Given the description of an element on the screen output the (x, y) to click on. 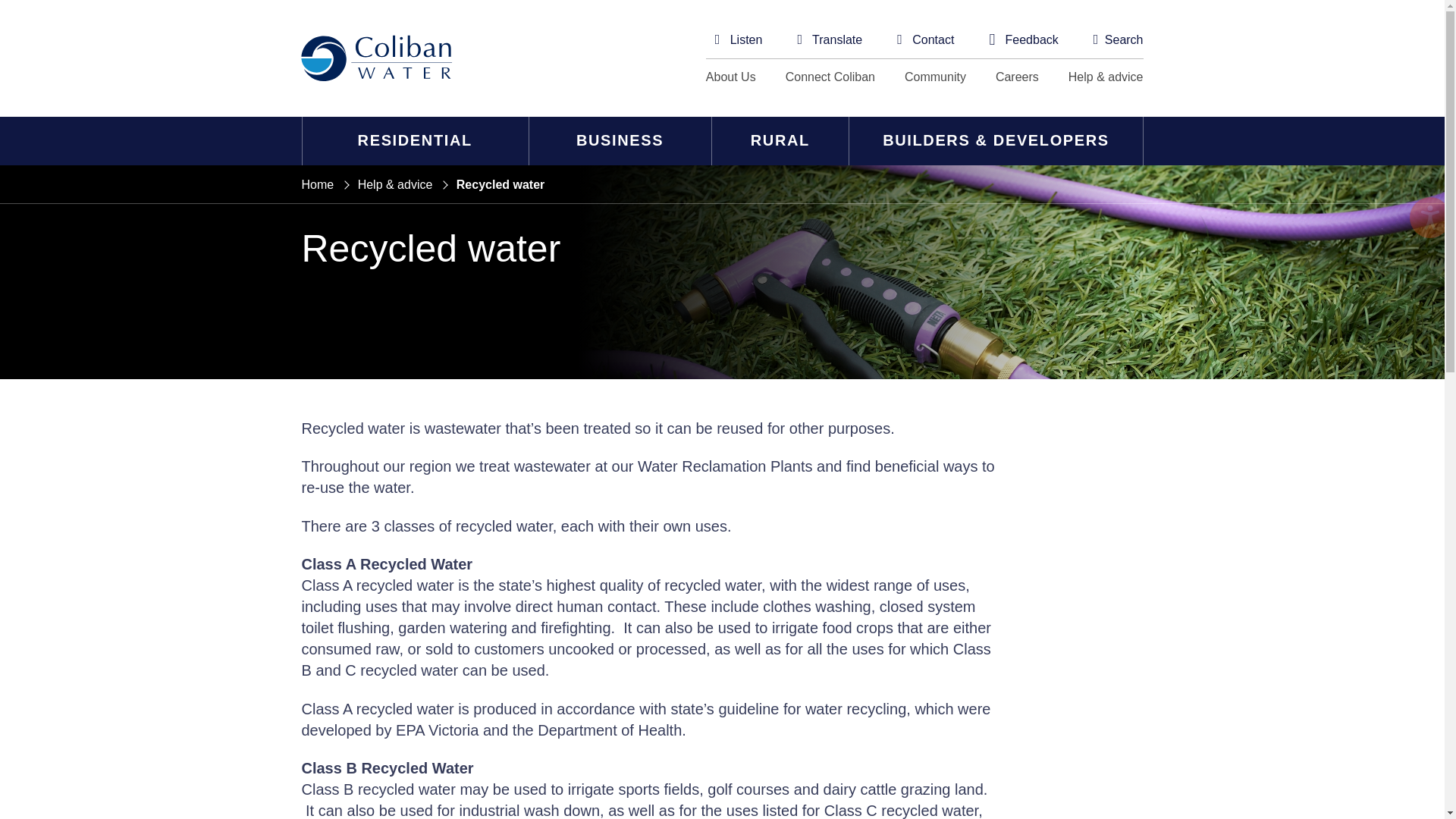
About Us (730, 76)
Feedback (1023, 39)
Translate (828, 39)
Listen (738, 39)
Home (317, 184)
Contact (924, 39)
RESIDENTIAL (414, 141)
Careers (1017, 76)
Share your ideas, provide us with feedback and work with us. (830, 76)
Connect Coliban (830, 76)
